Given the description of an element on the screen output the (x, y) to click on. 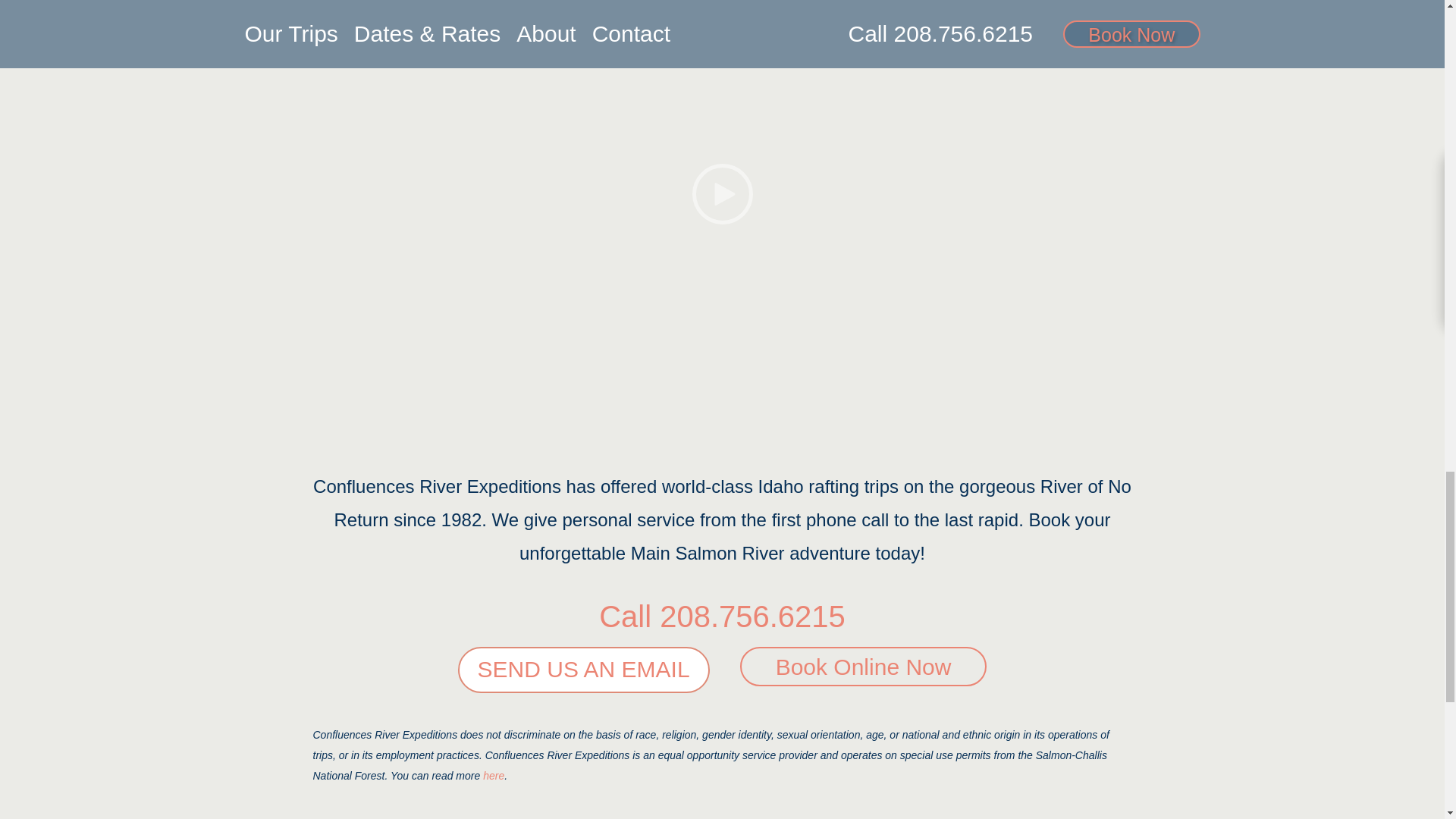
here (493, 775)
Call 208.756.6215 (721, 616)
SEND US AN EMAIL (584, 670)
